Given the description of an element on the screen output the (x, y) to click on. 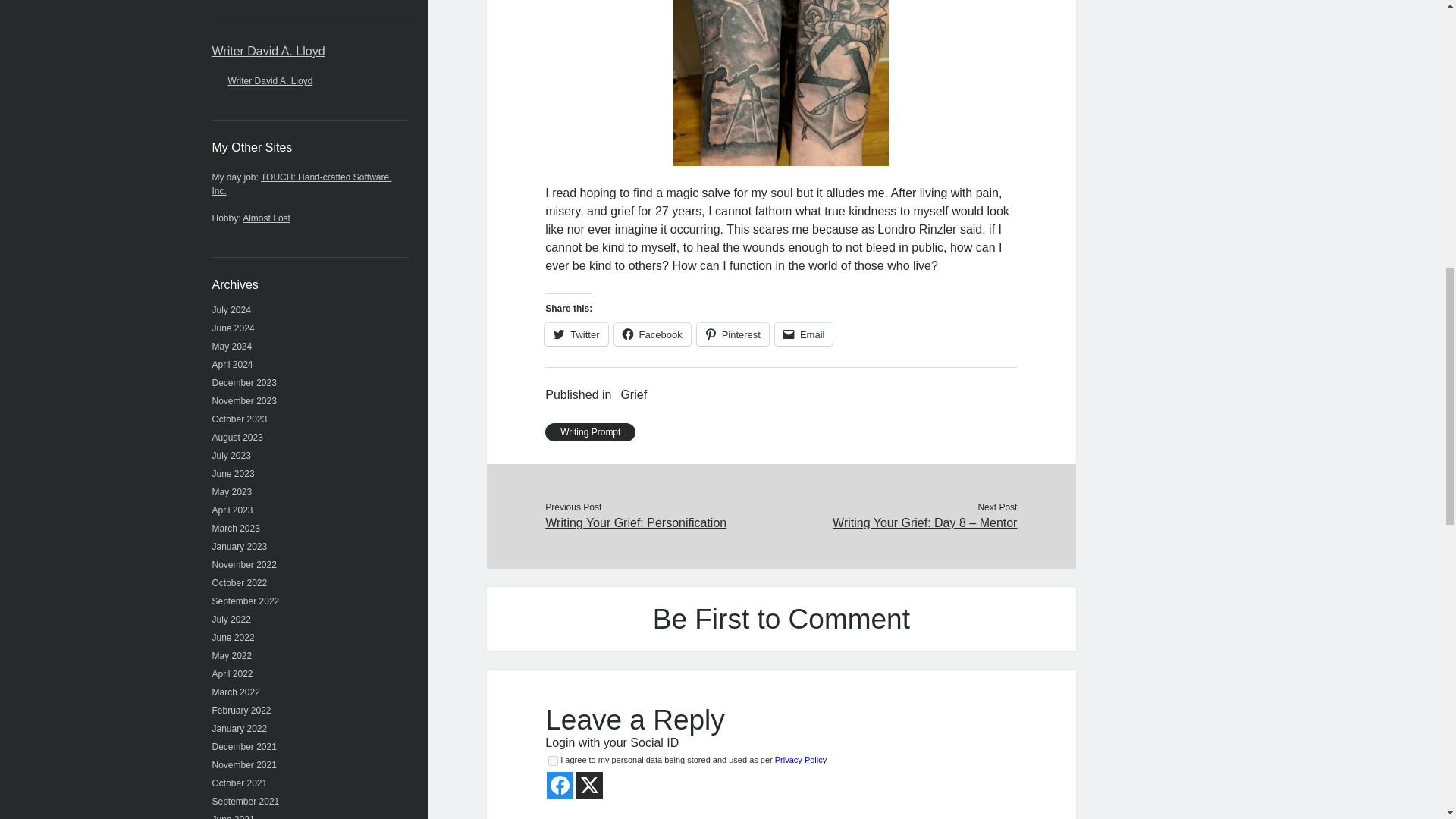
June 2023 (233, 473)
March 2023 (236, 528)
April 2023 (232, 510)
May 2023 (231, 491)
November 2022 (244, 564)
December 2023 (244, 382)
October 2023 (239, 419)
June 2024 (233, 327)
Almost Lost (266, 217)
Click to share on Pinterest (732, 333)
